Given the description of an element on the screen output the (x, y) to click on. 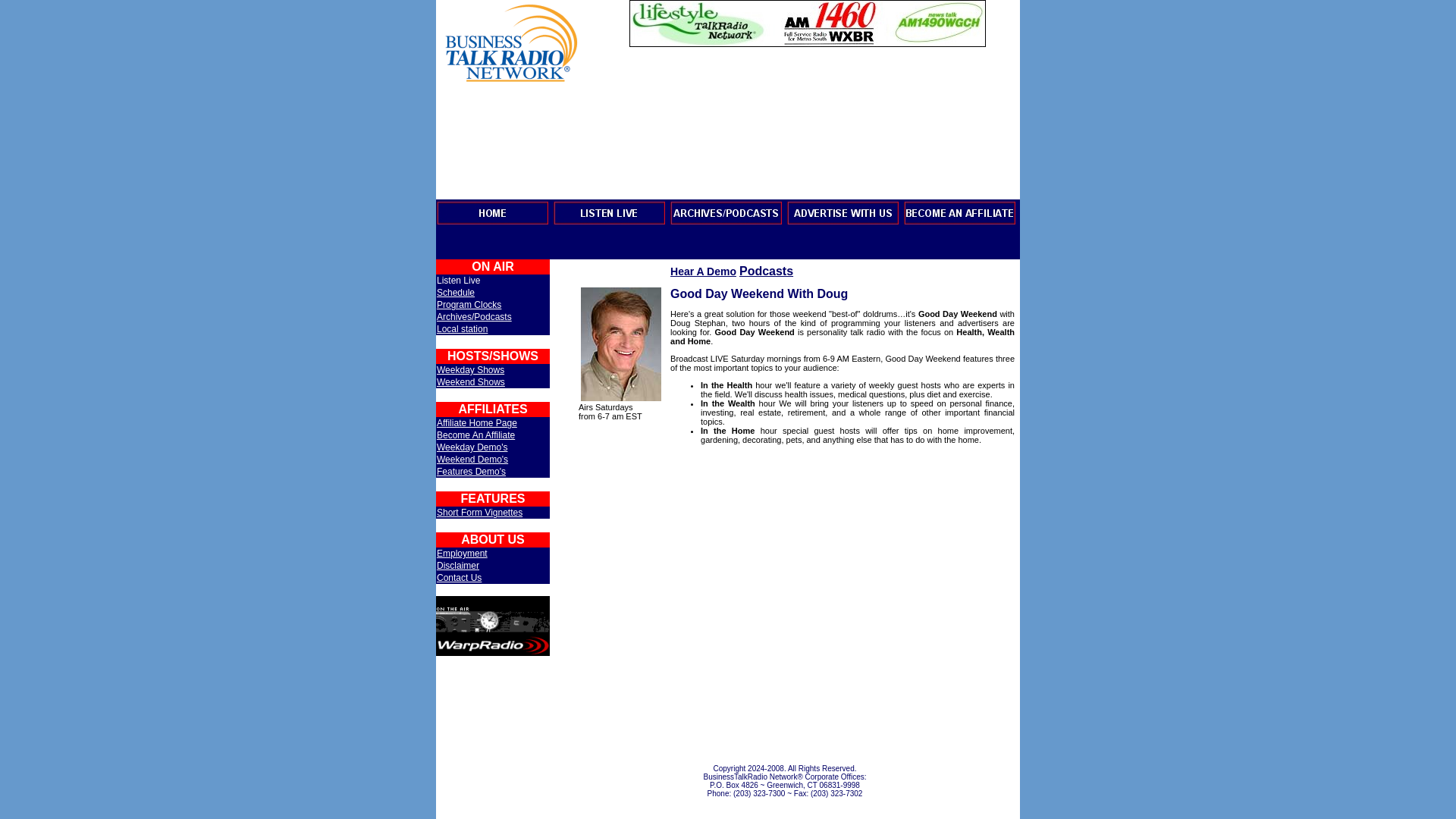
Schedule (455, 292)
Weekday Shows (469, 369)
Affiliate Home Page (476, 422)
Disclaimer (457, 565)
Weekend Demo's (472, 459)
Employment (461, 552)
Hear A Demo (702, 271)
Weekday Demo's (471, 447)
Become An Affiliate (475, 434)
Contact Us (458, 577)
Features Demo's (470, 471)
Weekend Shows (470, 381)
Program Clocks (468, 304)
Short Form Vignettes (479, 511)
Local station (461, 328)
